Given the description of an element on the screen output the (x, y) to click on. 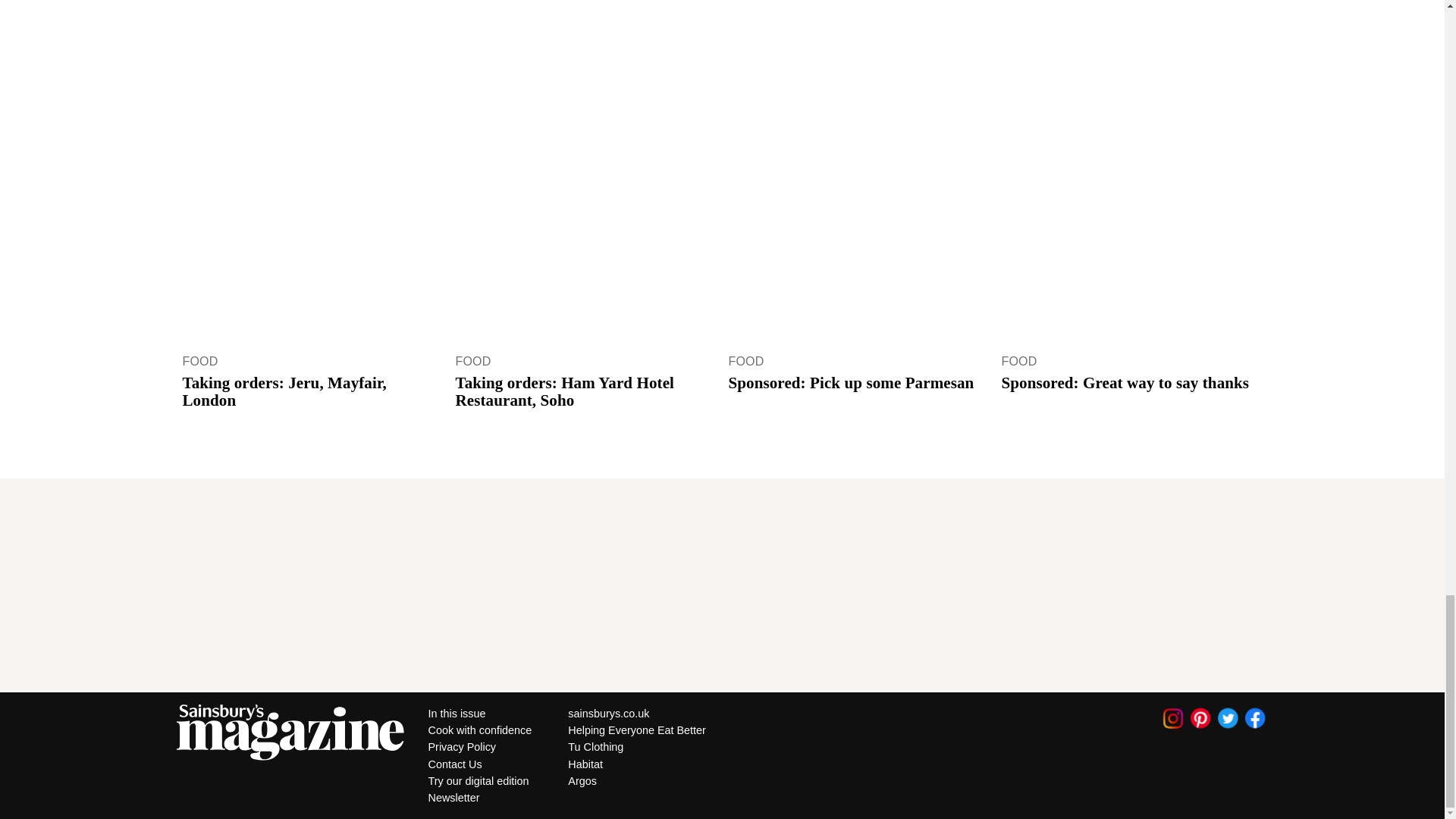
Helping Everyone Eat Better (636, 729)
Privacy Policy (479, 746)
sainsburys.co.uk (636, 712)
Cook with confidence (479, 729)
In this issue (479, 712)
Contact Us (479, 763)
Tu Clothing (636, 746)
Try our digital edition (479, 781)
Newsletter (479, 797)
